Given the description of an element on the screen output the (x, y) to click on. 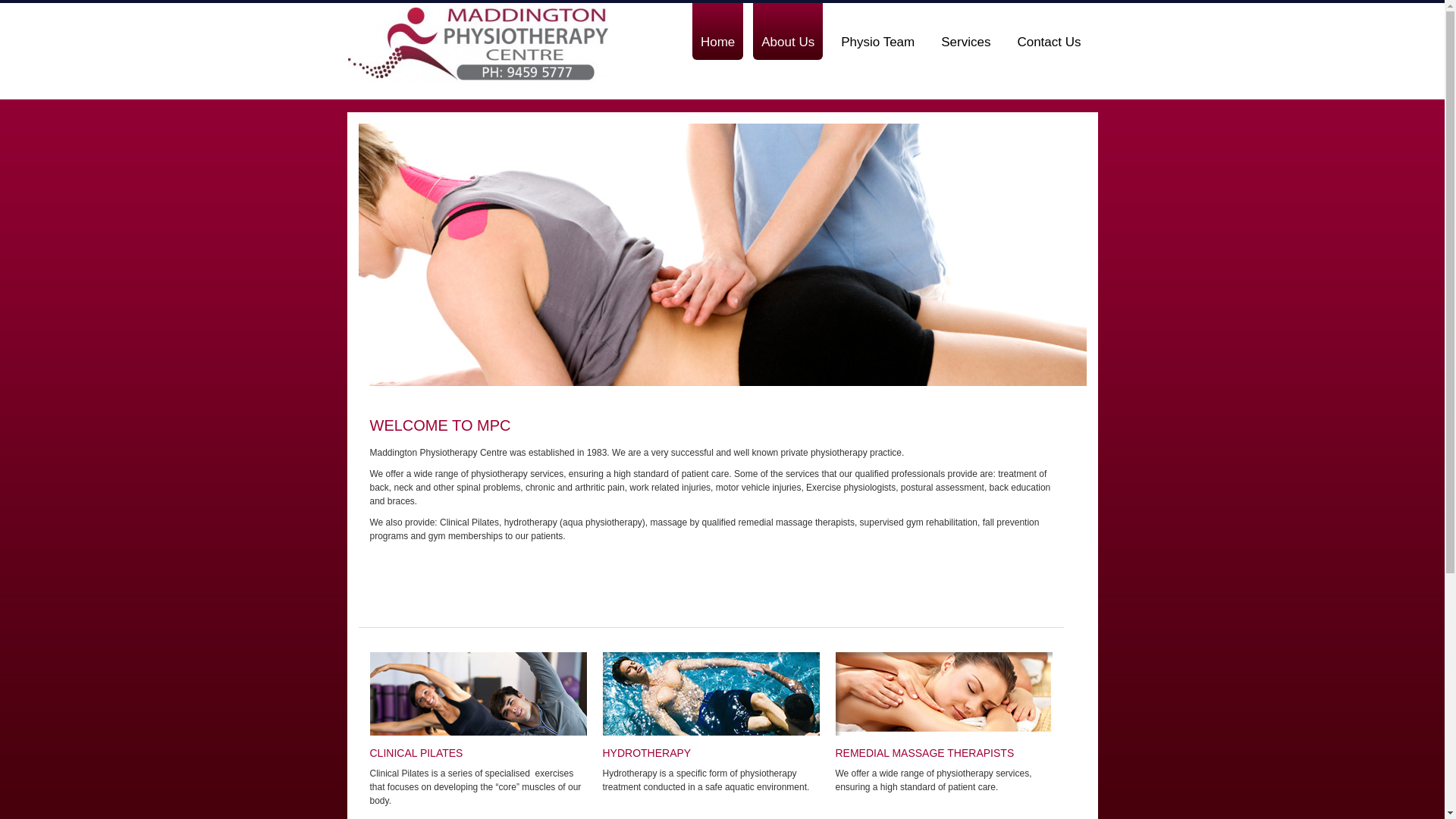
Our Services Element type: hover (943, 693)
Home Element type: text (717, 31)
About Us Element type: text (787, 31)
Contact Us Element type: text (1048, 31)
Hydrotherapy Element type: hover (710, 693)
Services Element type: text (965, 31)
Maddington Physiotherapy Centre Element type: text (477, 52)
Clinical Pilates Element type: hover (478, 693)
Physio Team Element type: text (877, 31)
